Given the description of an element on the screen output the (x, y) to click on. 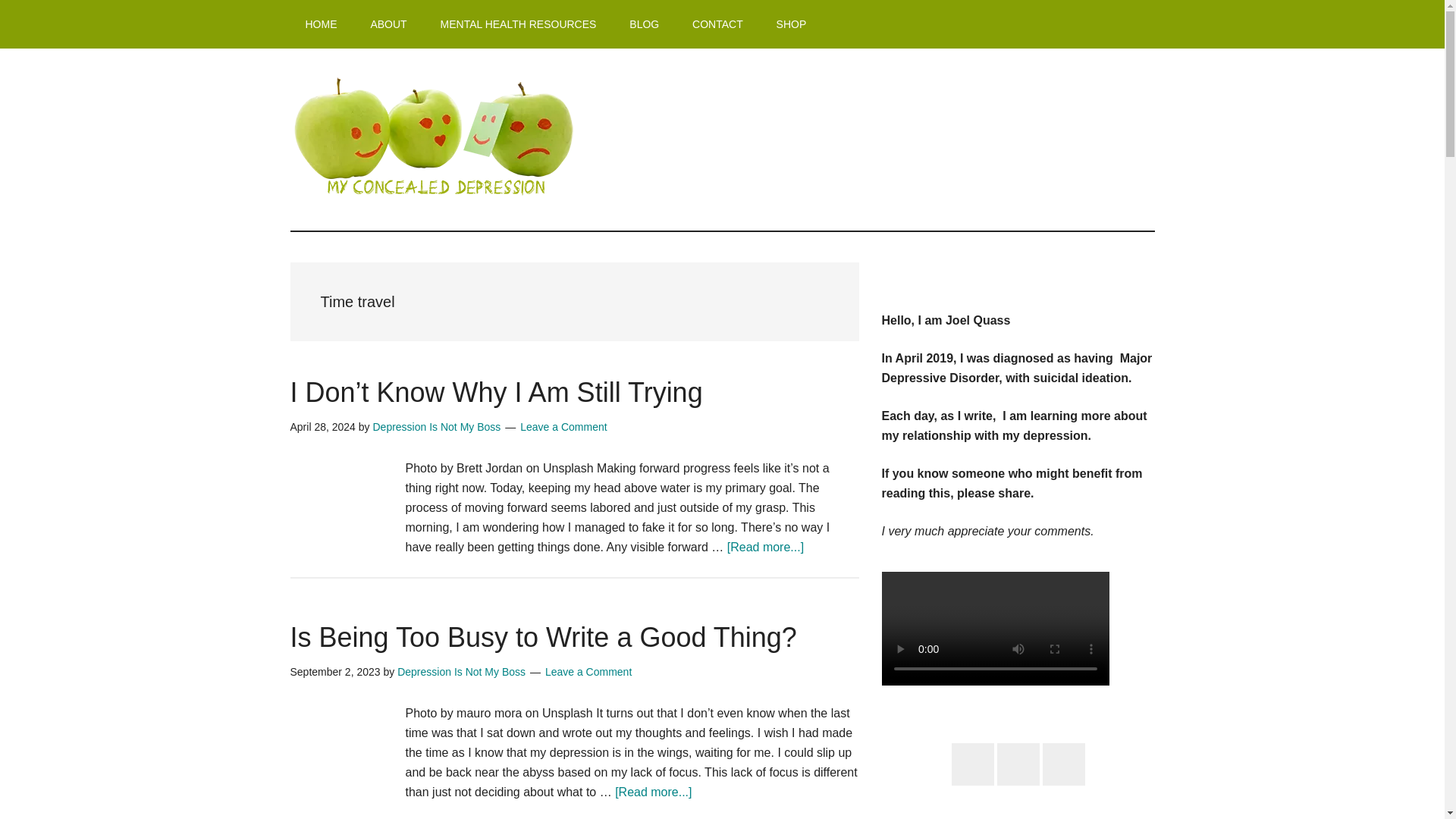
SHOP (791, 24)
HOME (320, 24)
MENTAL HEALTH RESOURCES (518, 24)
Is Being Too Busy to Write a Good Thing? (542, 636)
BLOG (644, 24)
ABOUT (388, 24)
Depression Is Not My Boss (461, 671)
Depression Is Not My Boss (436, 426)
CONTACT (717, 24)
Leave a Comment (563, 426)
Leave a Comment (587, 671)
